Given the description of an element on the screen output the (x, y) to click on. 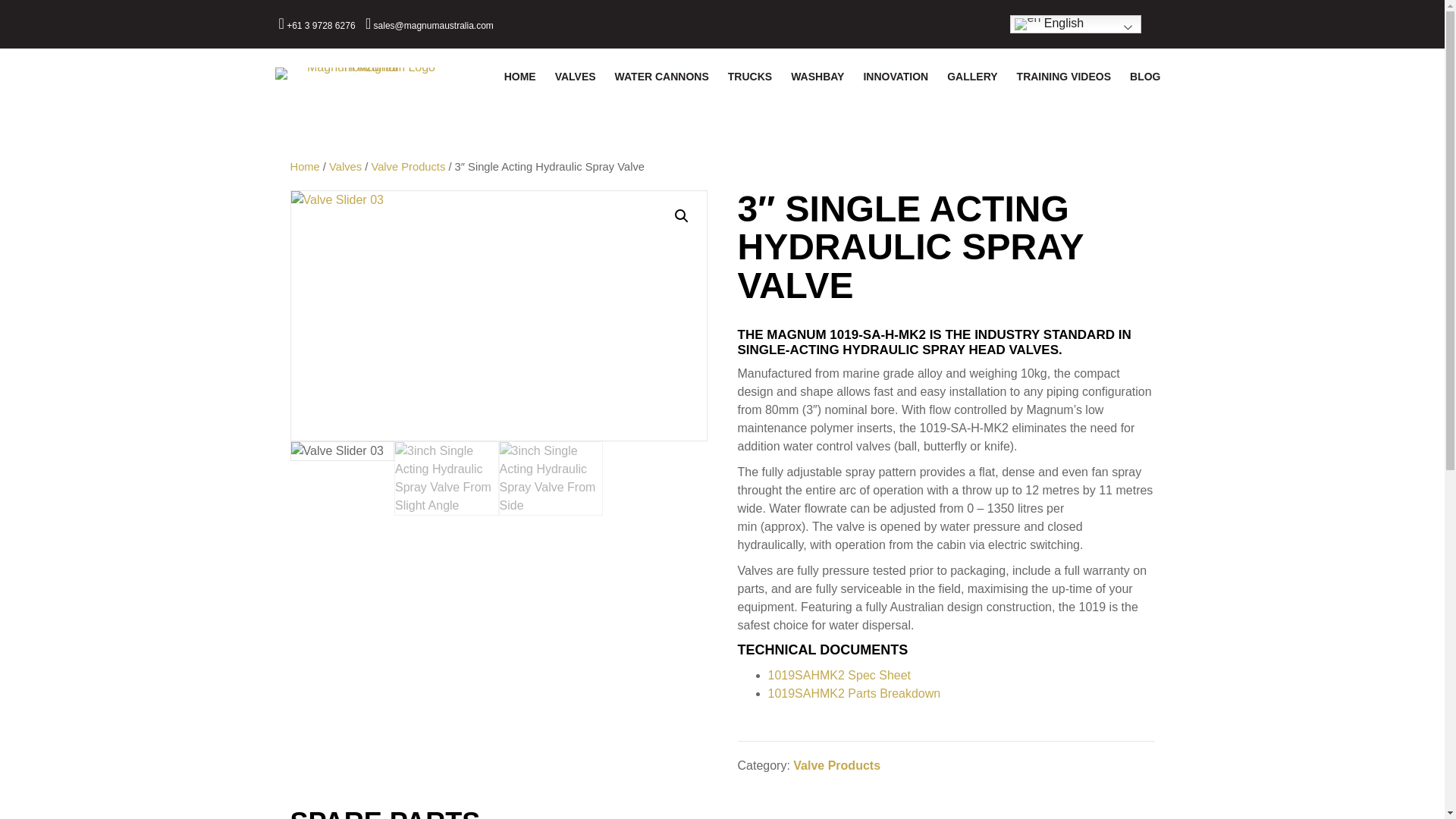
English (1075, 24)
Valves (345, 166)
GALLERY (971, 76)
BLOG (1145, 76)
1019SAHMK2 Spec Sheet (839, 675)
Magnum Magnum Logo Horizontal (364, 72)
HOME (519, 76)
1019SAHMK2 Parts Breakdown (853, 693)
TRAINING VIDEOS (1063, 76)
WATER CANNONS (661, 76)
Valve Slider 03 (497, 315)
INNOVATION (895, 76)
Home (303, 166)
VALVES (575, 76)
WASHBAY (817, 76)
